Given the description of an element on the screen output the (x, y) to click on. 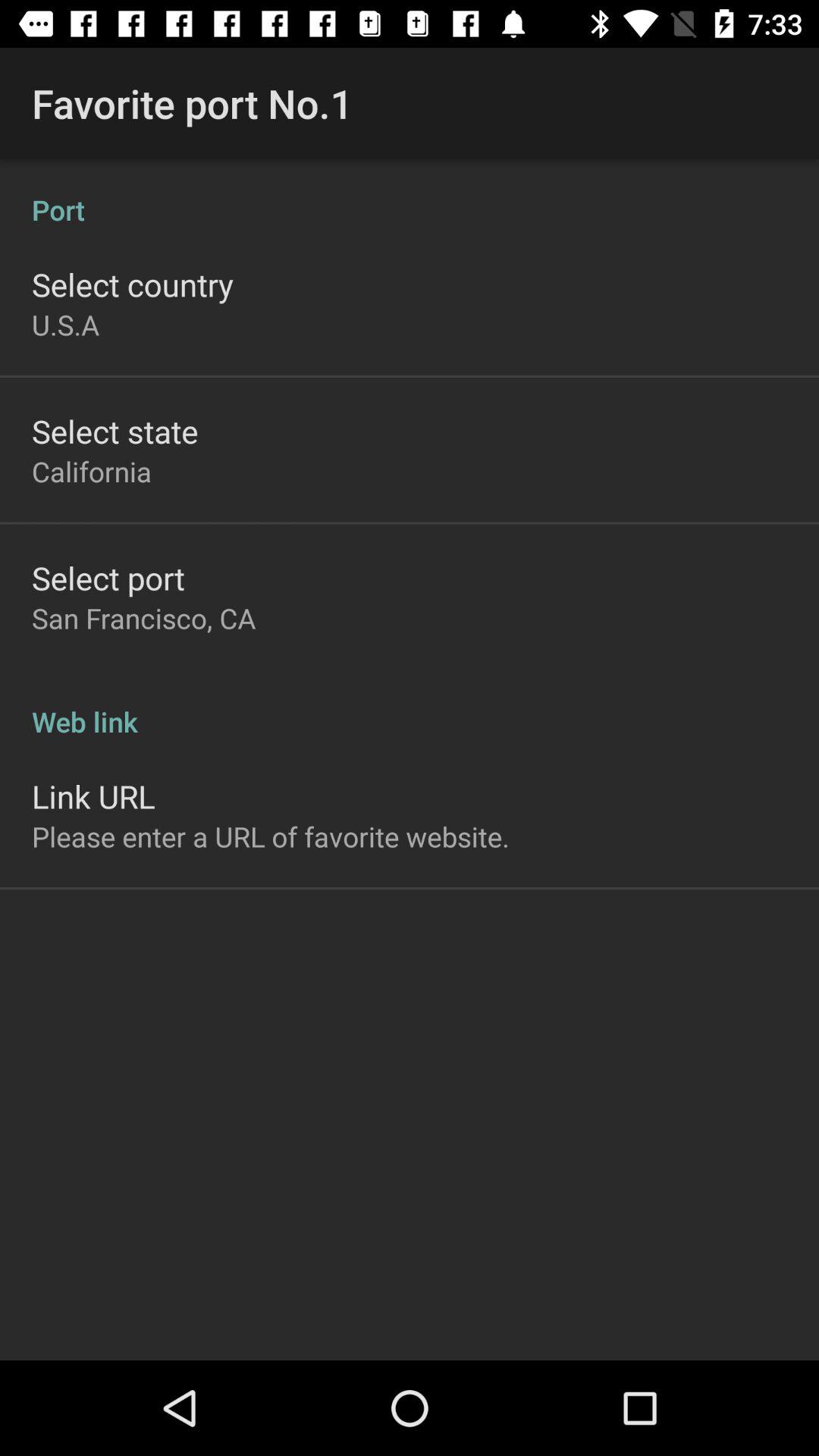
tap the icon below the california (107, 577)
